Given the description of an element on the screen output the (x, y) to click on. 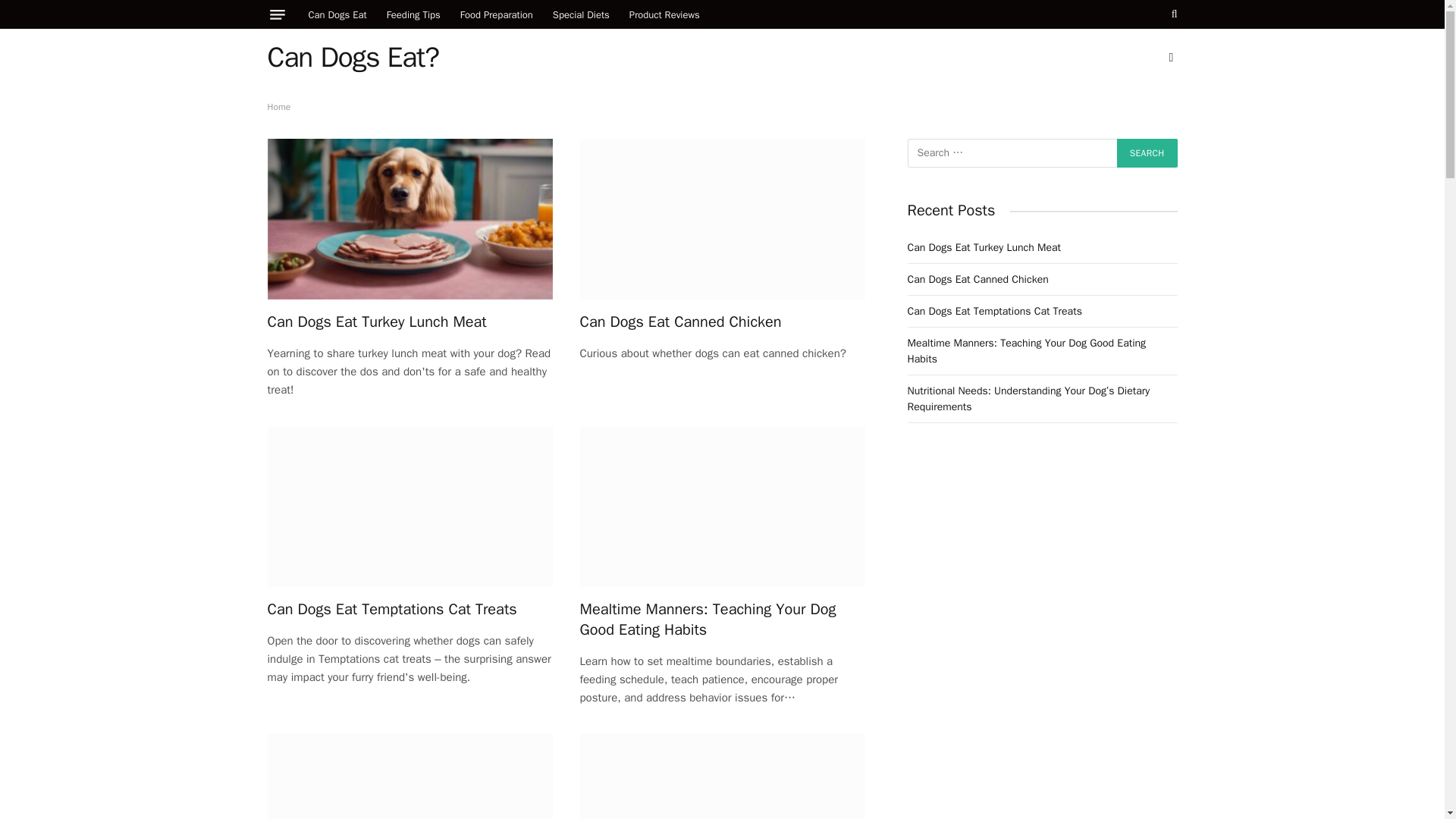
Feeding Tips (413, 14)
Can Dogs Eat Temptations Cat Treats (408, 506)
Can Dogs Eat Canned Chicken (721, 218)
Mealtime Manners: Teaching Your Dog Good Eating Habits (721, 618)
Can Dogs Eat? (352, 57)
Can Dogs Eat Turkey Lunch Meat (408, 322)
Mealtime Manners: Teaching Your Dog Good Eating Habits (721, 506)
Food Preparation (496, 14)
Switch to Dark Design - easier on eyes. (1168, 57)
Special Diets (581, 14)
Search (1146, 152)
Can Dogs Eat Temptations Cat Treats (408, 608)
Product Reviews (665, 14)
Can Dogs Eat Canned Chicken (721, 322)
Can Dogs Eat (337, 14)
